Given the description of an element on the screen output the (x, y) to click on. 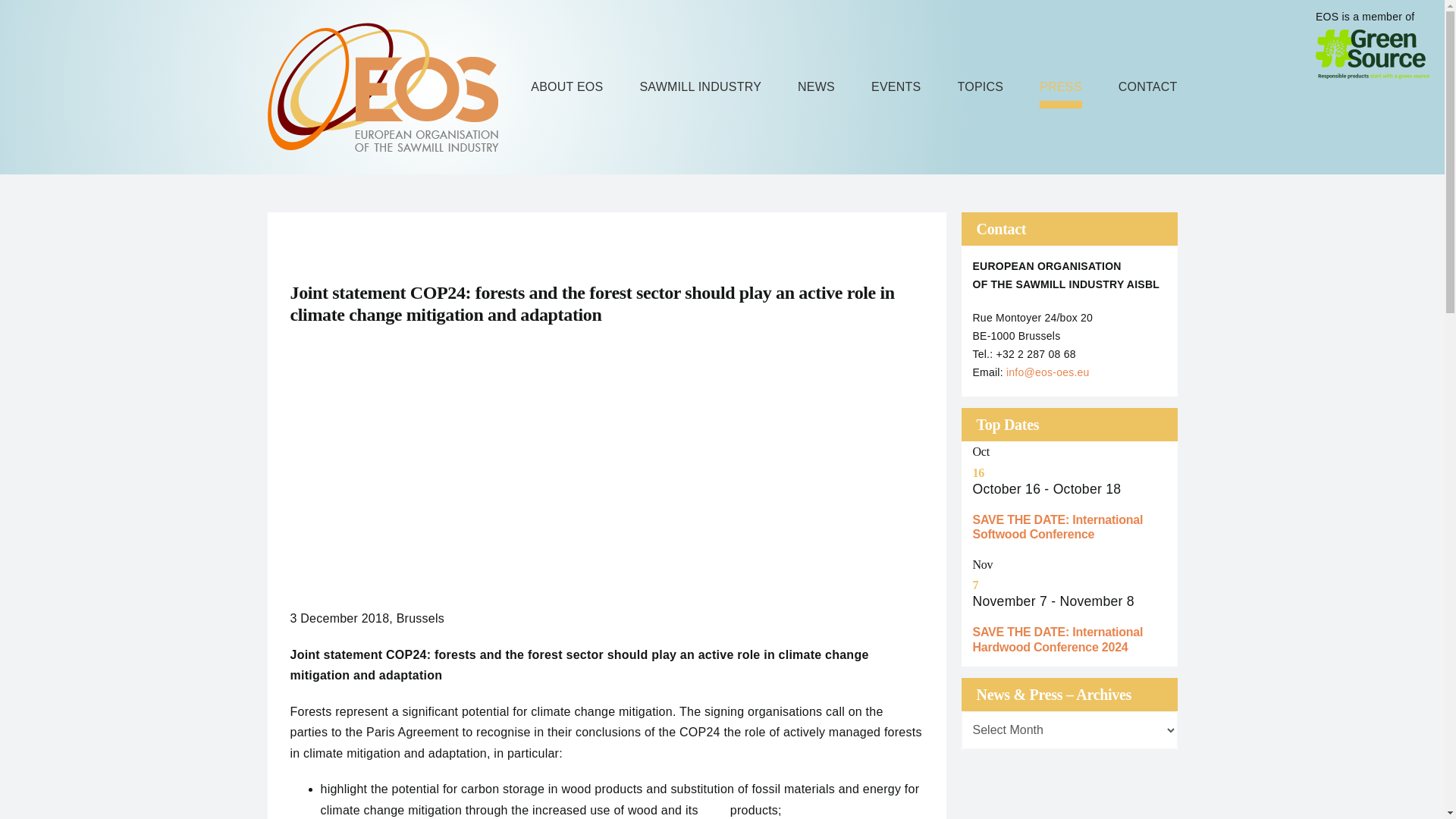
SAVE THE DATE: International Hardwood Conference 2024 (1057, 638)
SAVE THE DATE: International Softwood Conference (1057, 526)
SAWMILL INDUSTRY (700, 86)
SAVE THE DATE: International Hardwood Conference 2024 (1057, 638)
SAVE THE DATE: International Softwood Conference (1057, 526)
